Given the description of an element on the screen output the (x, y) to click on. 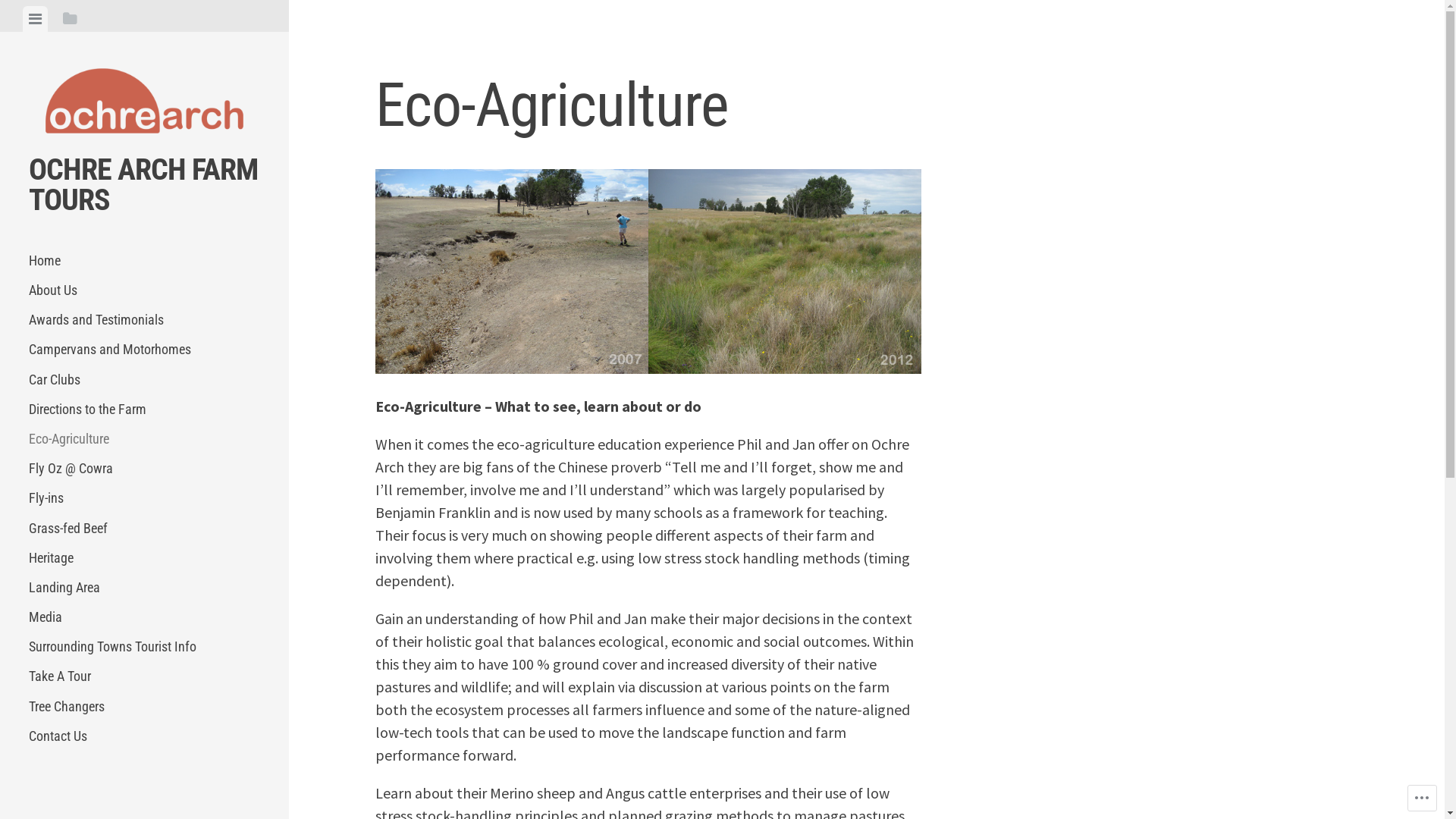
Grass-fed Beef Element type: text (144, 527)
Media Element type: text (144, 616)
Campervans and Motorhomes Element type: text (144, 349)
Take A Tour Element type: text (144, 675)
OCHRE ARCH FARM TOURS Element type: text (142, 184)
About Us Element type: text (144, 289)
Awards and Testimonials Element type: text (144, 319)
Home Element type: text (144, 260)
Surrounding Towns Tourist Info Element type: text (144, 646)
Tree Changers Element type: text (144, 706)
Heritage Element type: text (144, 557)
Car Clubs Element type: text (144, 378)
Fly Oz @ Cowra Element type: text (144, 468)
Contact Us Element type: text (144, 735)
Eco-Agriculture Element type: text (144, 438)
Directions to the Farm Element type: text (144, 408)
Landing Area Element type: text (144, 587)
Fly-ins Element type: text (144, 497)
